Given the description of an element on the screen output the (x, y) to click on. 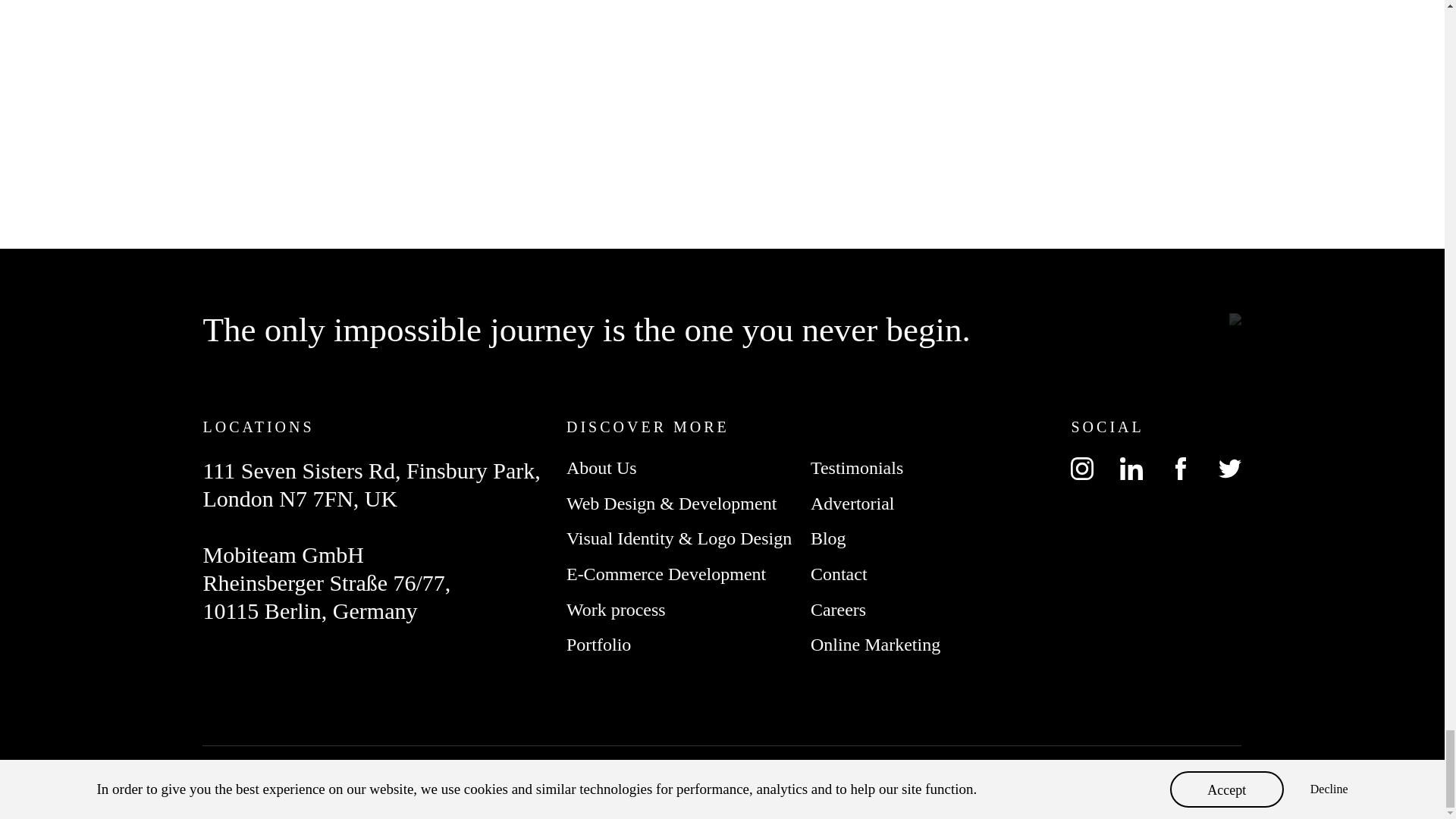
Contact (838, 573)
Blog (827, 537)
Work process (615, 609)
Careers (838, 609)
About Us (601, 467)
E-Commerce Development (665, 573)
Portfolio (598, 644)
Testimonials (856, 467)
Online Marketing (875, 644)
Advertorial (852, 503)
